Given the description of an element on the screen output the (x, y) to click on. 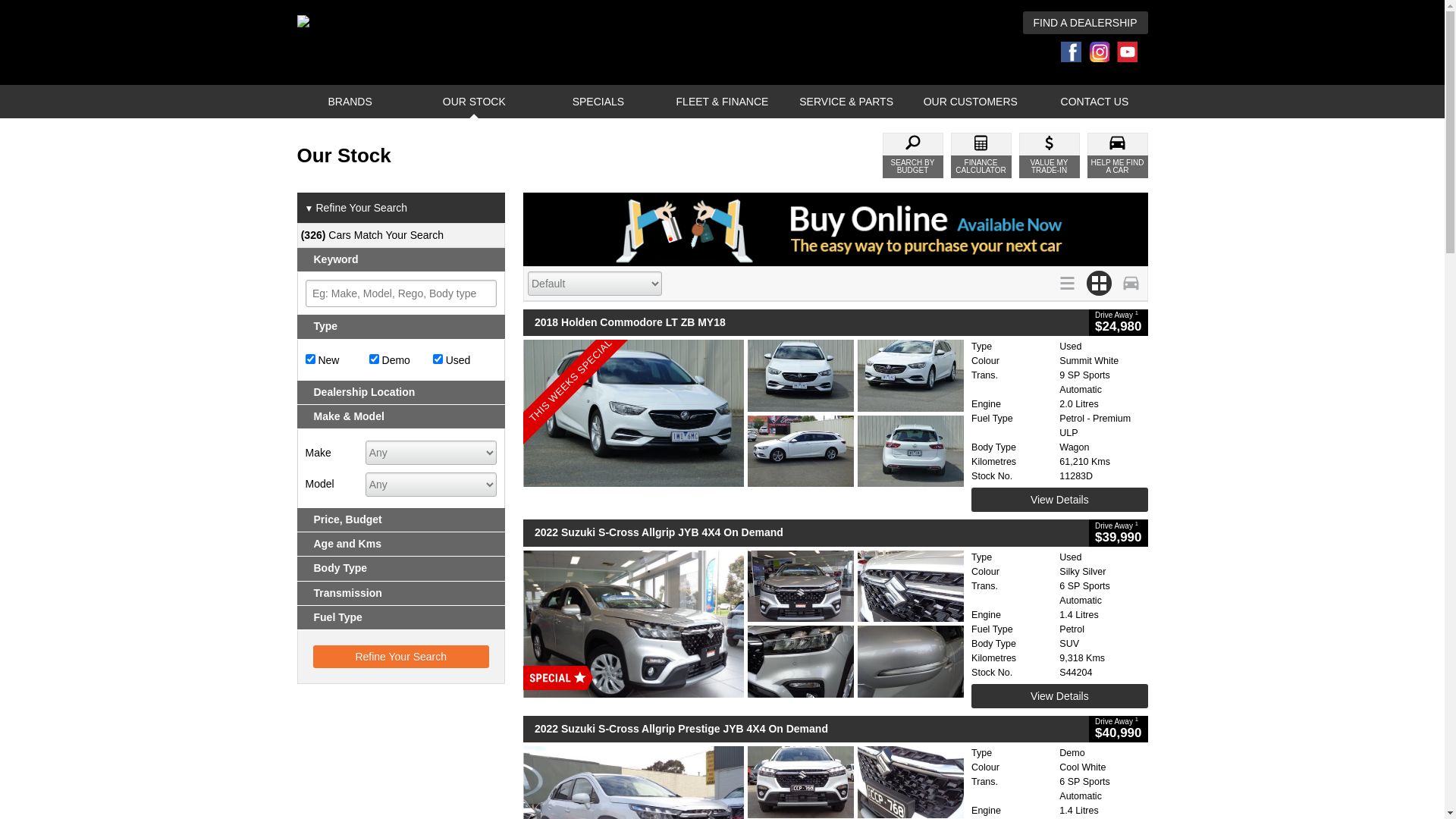
2022 Suzuki S-Cross ALLGRIP JYB 4X4 On Demand Silky Silver Element type: hover (743, 623)
OUR STOCK Element type: text (473, 101)
Price, Budget Element type: text (401, 519)
Type Element type: text (401, 326)
Dealership Location Element type: text (401, 392)
THIS WEEKS SPECIAL Element type: text (743, 412)
Refine Your Search Element type: text (400, 656)
youtube Element type: text (1131, 51)
View Details Element type: text (1059, 499)
2022 Suzuki S-Cross Allgrip JYB 4X4 On Demand Element type: text (805, 532)
HELP ME FIND A CAR Element type: text (1117, 155)
BRANDS Element type: text (350, 101)
Fuel Type Element type: text (401, 617)
2022 Suzuki S-Cross Allgrip Prestige JYB 4X4 On Demand Element type: text (805, 728)
SEARCH BY BUDGET Element type: text (912, 155)
Keyword Element type: text (401, 259)
FINANCE CALCULATOR Element type: text (980, 155)
Drive Away 1
$40,990 Element type: text (1117, 728)
SPECIALS Element type: text (598, 101)
facebook Element type: text (1074, 51)
CONTACT US Element type: text (1094, 101)
Drive Away 1
$39,990 Element type: text (1117, 532)
Transmission Element type: text (401, 593)
Make & Model Element type: text (401, 416)
Age and Kms Element type: text (401, 543)
VALUE MY TRADE-IN Element type: text (1049, 155)
View Details Element type: text (1059, 696)
Body Type Element type: text (401, 568)
instagram Element type: text (1102, 51)
FLEET & FINANCE Element type: text (721, 101)
OUR CUSTOMERS Element type: text (970, 101)
SERVICE & PARTS Element type: text (846, 101)
FIND A DEALERSHIP Element type: text (1085, 22)
2018 Holden Commodore LT ZB MY18 Element type: text (805, 322)
Drive Away 1
$24,980 Element type: text (1117, 322)
